Given the description of an element on the screen output the (x, y) to click on. 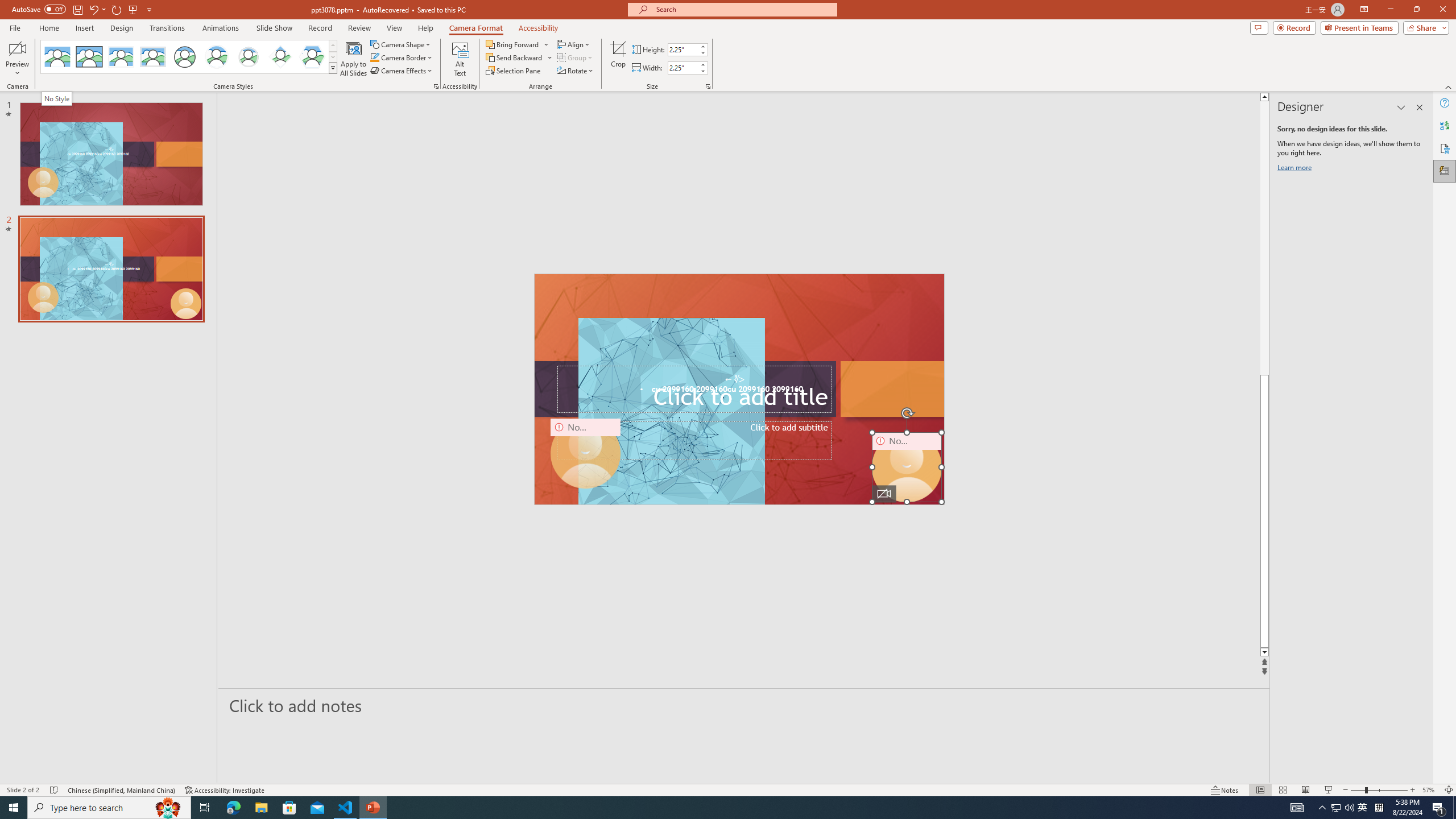
Camera Styles (333, 67)
Row up (333, 45)
Accessibility (1444, 147)
Enable Camera Preview (17, 48)
Apply to All Slides (353, 58)
Collapse the Ribbon (1448, 86)
System (6, 6)
Camera Border Green, Accent 1 (374, 56)
Present in Teams (1359, 27)
Minimize (1390, 9)
Translator (1444, 125)
Home (48, 28)
Bring Forward (513, 44)
Quick Access Toolbar (82, 9)
